Given the description of an element on the screen output the (x, y) to click on. 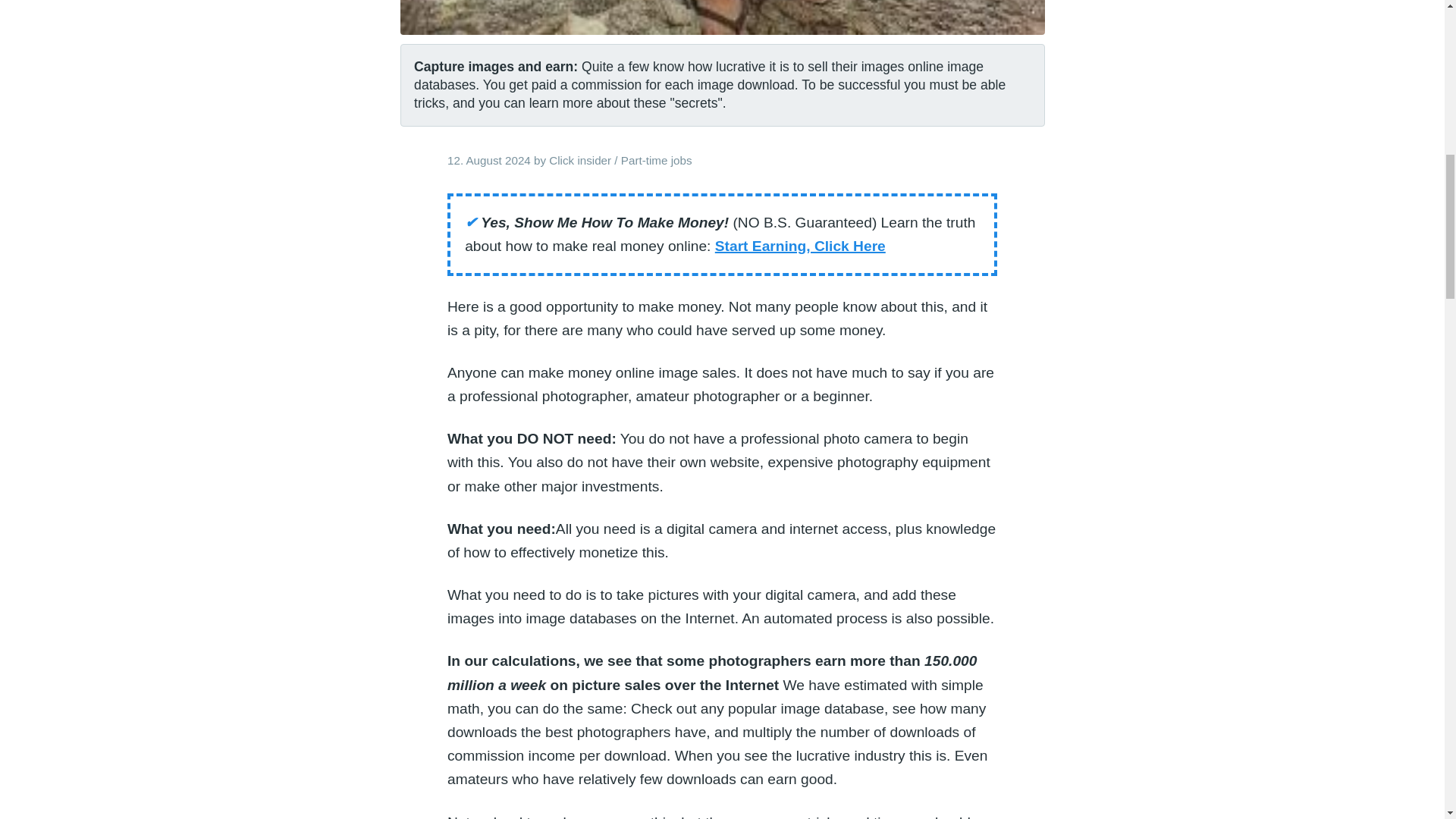
Click insider (579, 160)
Part-time jobs (657, 160)
Start Earning, Click Here (799, 245)
